Given the description of an element on the screen output the (x, y) to click on. 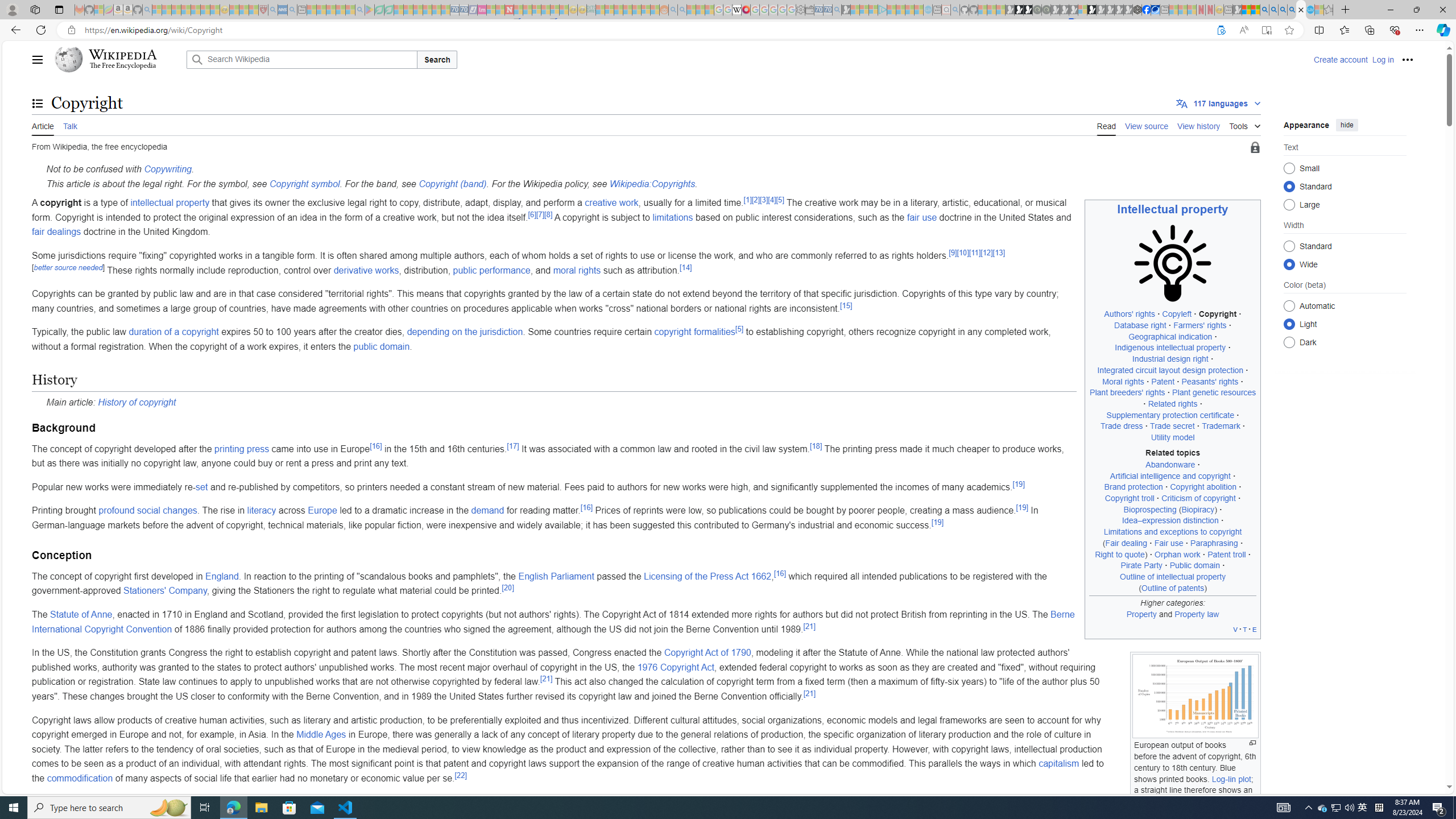
Outline of patents (1172, 587)
Cheap Car Rentals - Save70.com - Sleeping (827, 9)
Microsoft Start Gaming - Sleeping (846, 9)
Page semi-protected (1254, 147)
Microsoft Start - Sleeping (908, 9)
Berne International Copyright Convention (553, 621)
commodification (79, 777)
Copyleft (1176, 314)
Authors' rights (1129, 314)
